Given the description of an element on the screen output the (x, y) to click on. 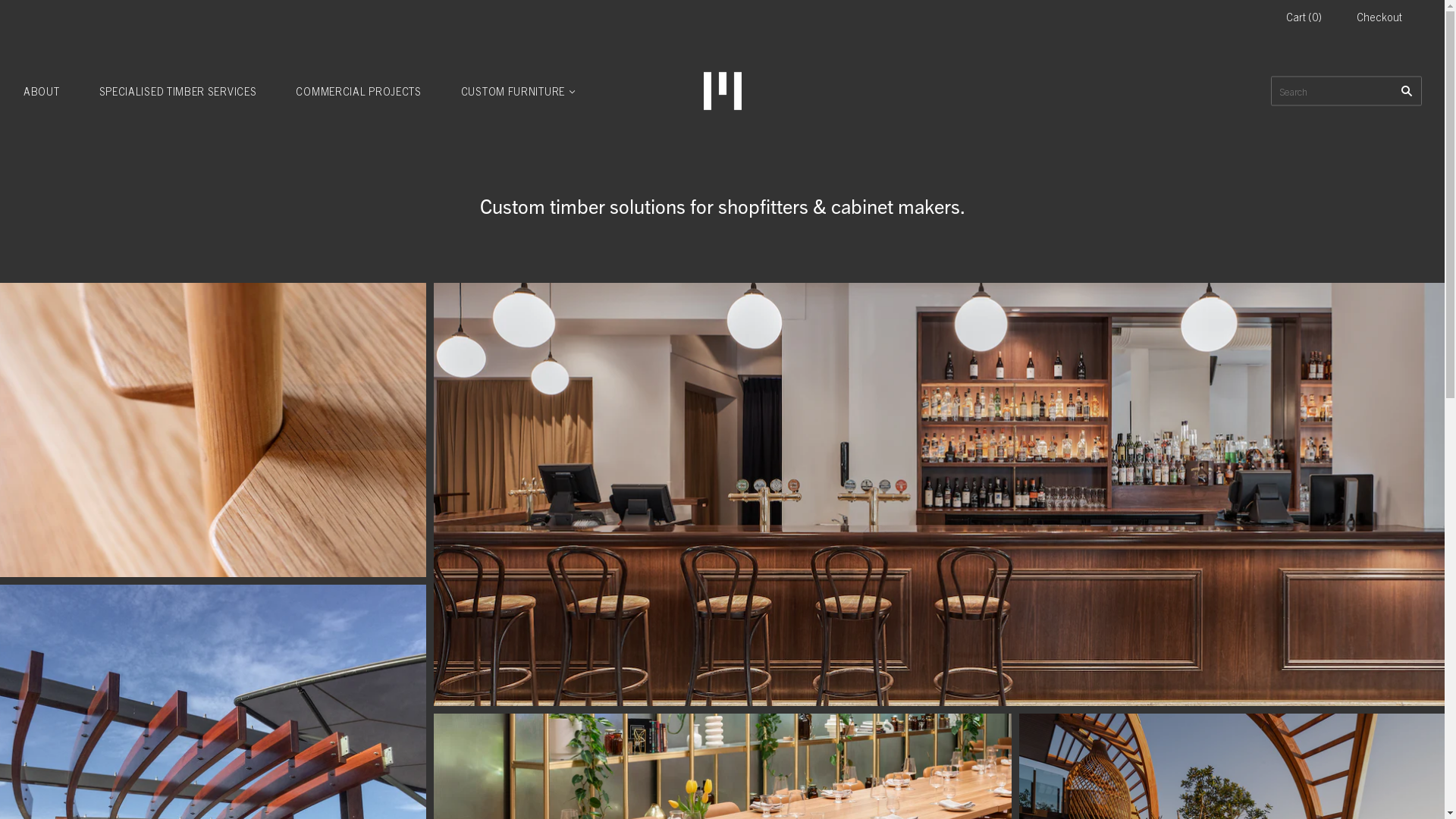
Cart (0) Element type: text (1303, 16)
Checkout Element type: text (1379, 16)
ABOUT Element type: text (41, 91)
COMMERCIAL PROJECTS Element type: text (358, 91)
SPECIALISED TIMBER SERVICES Element type: text (177, 91)
CUSTOM FURNITURE Element type: text (517, 91)
